Given the description of an element on the screen output the (x, y) to click on. 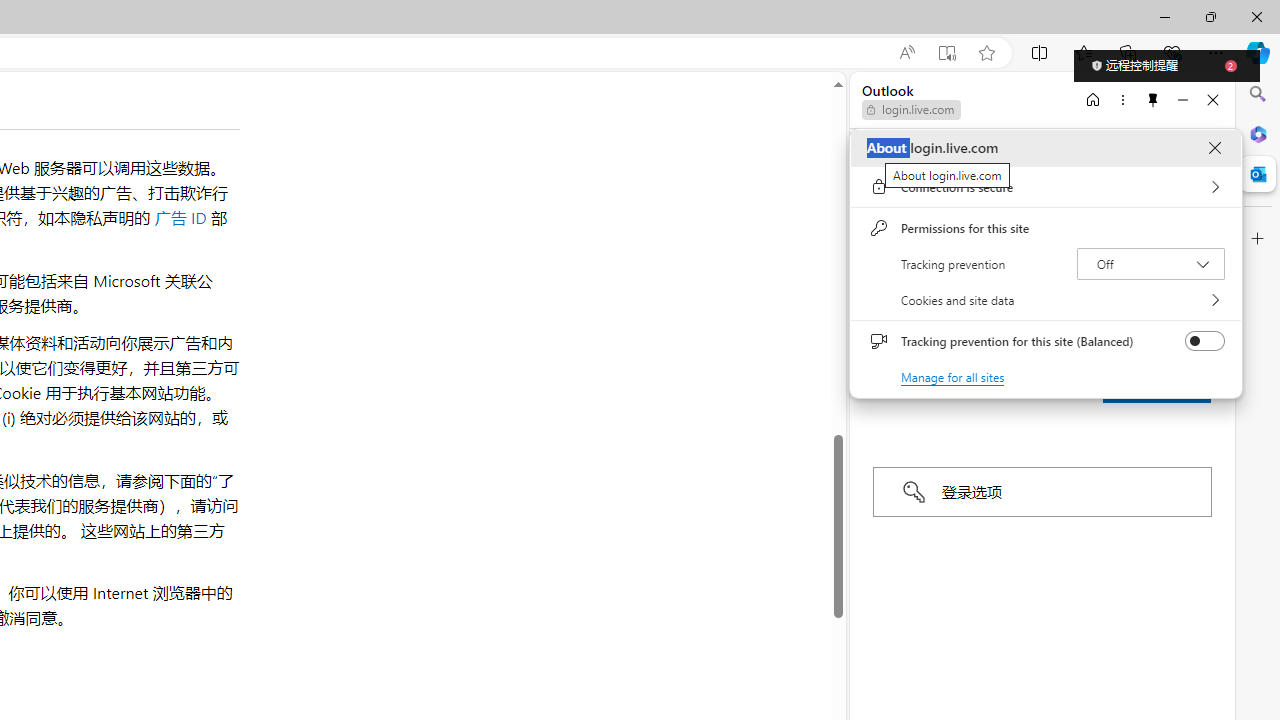
Tracking prevention Off (1150, 263)
Manage for all sites (952, 376)
About login.live.com (1214, 147)
Permissions for this site (1046, 228)
Cookies and site data (1046, 300)
Connection is secure (1046, 187)
Tracking prevention for this site (Balanced) (1204, 341)
